Given the description of an element on the screen output the (x, y) to click on. 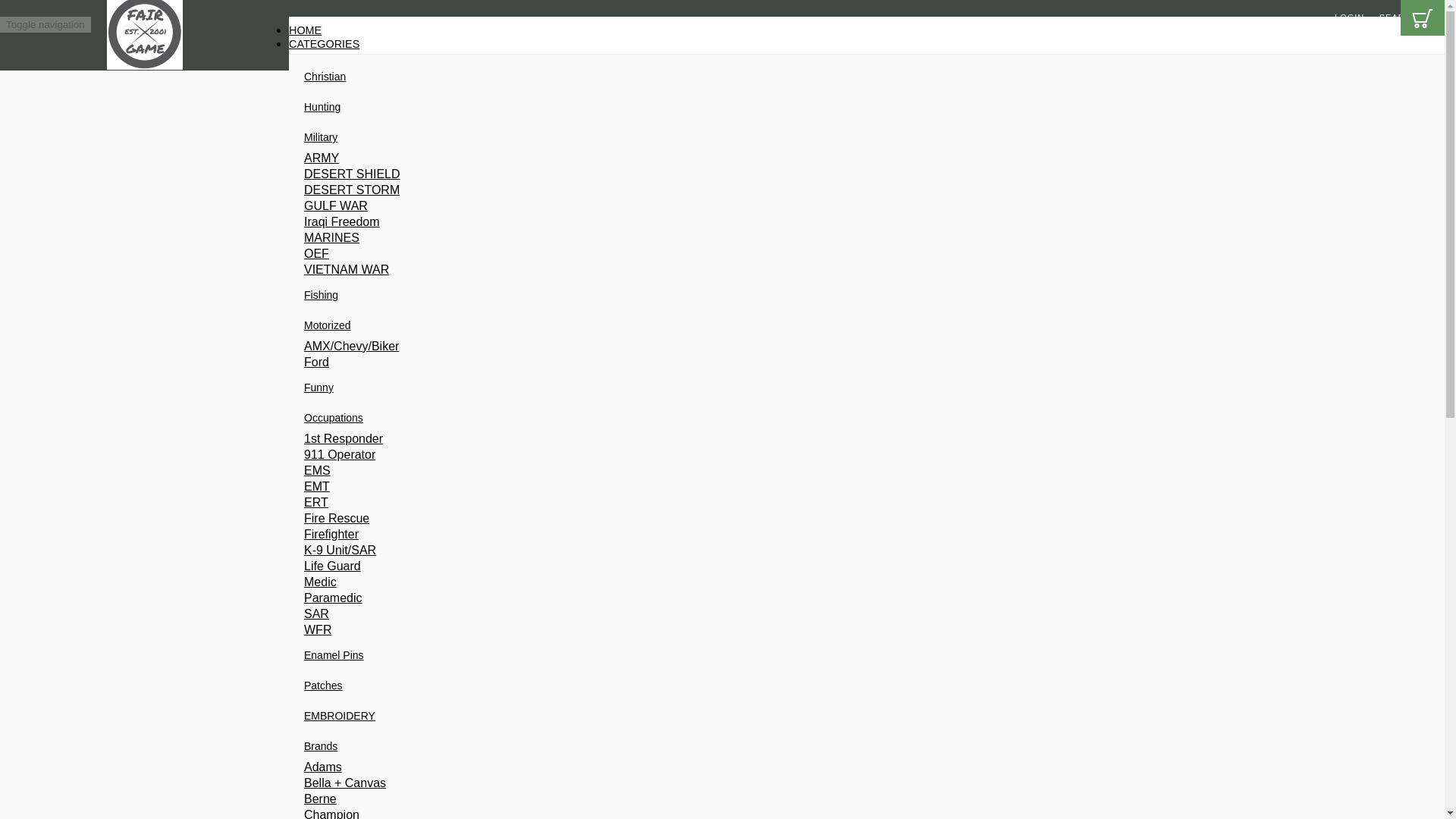
VIETNAM WAR (550, 269)
SAR (550, 613)
GULF WAR (550, 205)
LOGIN (1349, 17)
Paramedic (550, 598)
EMS (550, 470)
HOME (304, 30)
Life Guard (550, 566)
Hunting (322, 106)
Motorized (327, 325)
ARMY (550, 158)
DESERT STORM (550, 190)
Christian (325, 76)
MARINES (550, 237)
Medic (550, 582)
